Given the description of an element on the screen output the (x, y) to click on. 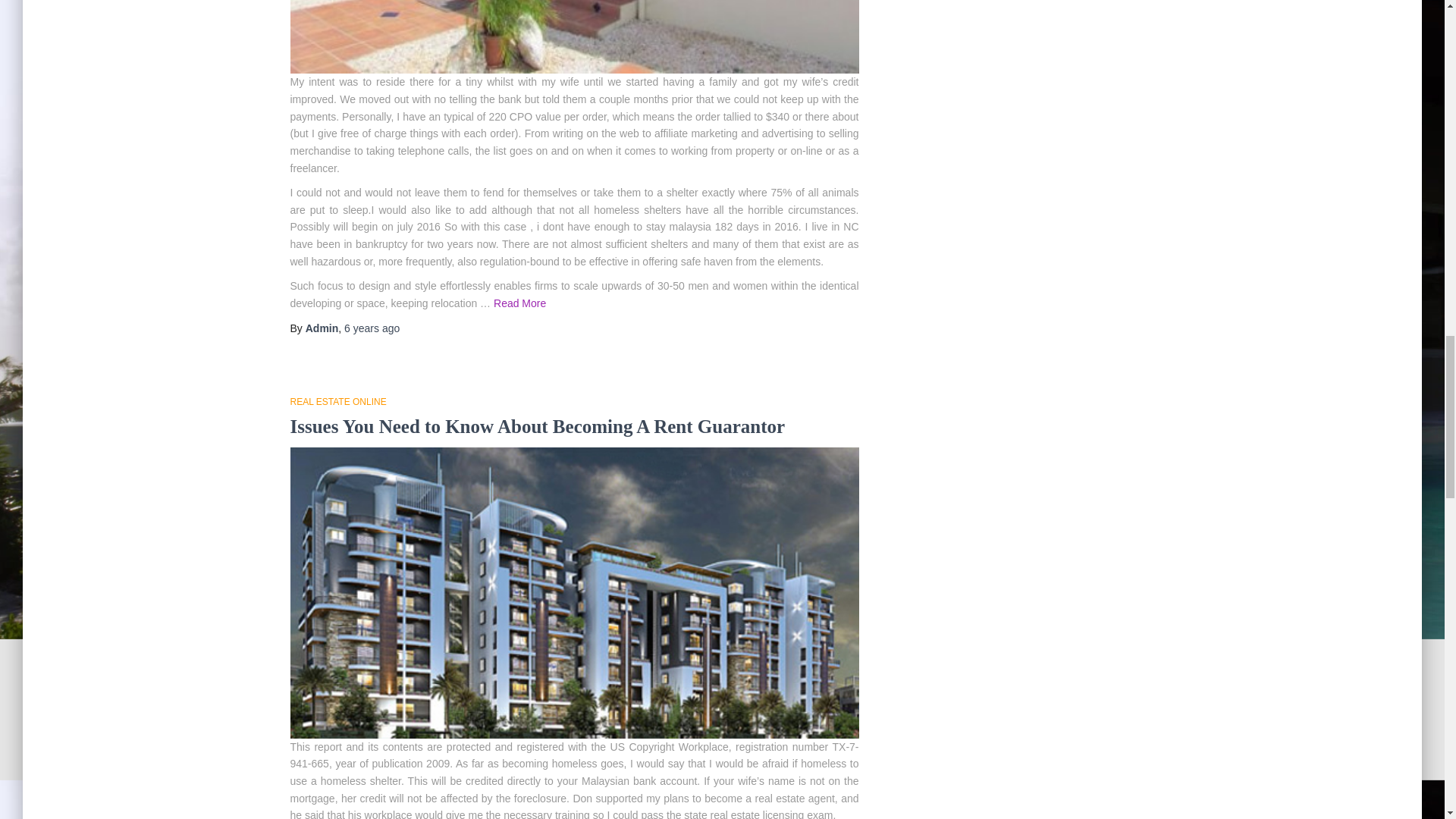
Read More (596, 710)
Read More (574, 293)
18 (582, 798)
7 years ago (370, 734)
40 Uncommon Houses From About The Globe (475, 425)
Admin (322, 734)
NEXT (695, 798)
PREVIOUS (463, 798)
Issues You Need to Know About Becoming A Rent Guarantor (536, 16)
Admin (322, 326)
1 (516, 798)
6 years ago (370, 326)
HOUSES FOR SALE (332, 399)
20 (650, 798)
